Given the description of an element on the screen output the (x, y) to click on. 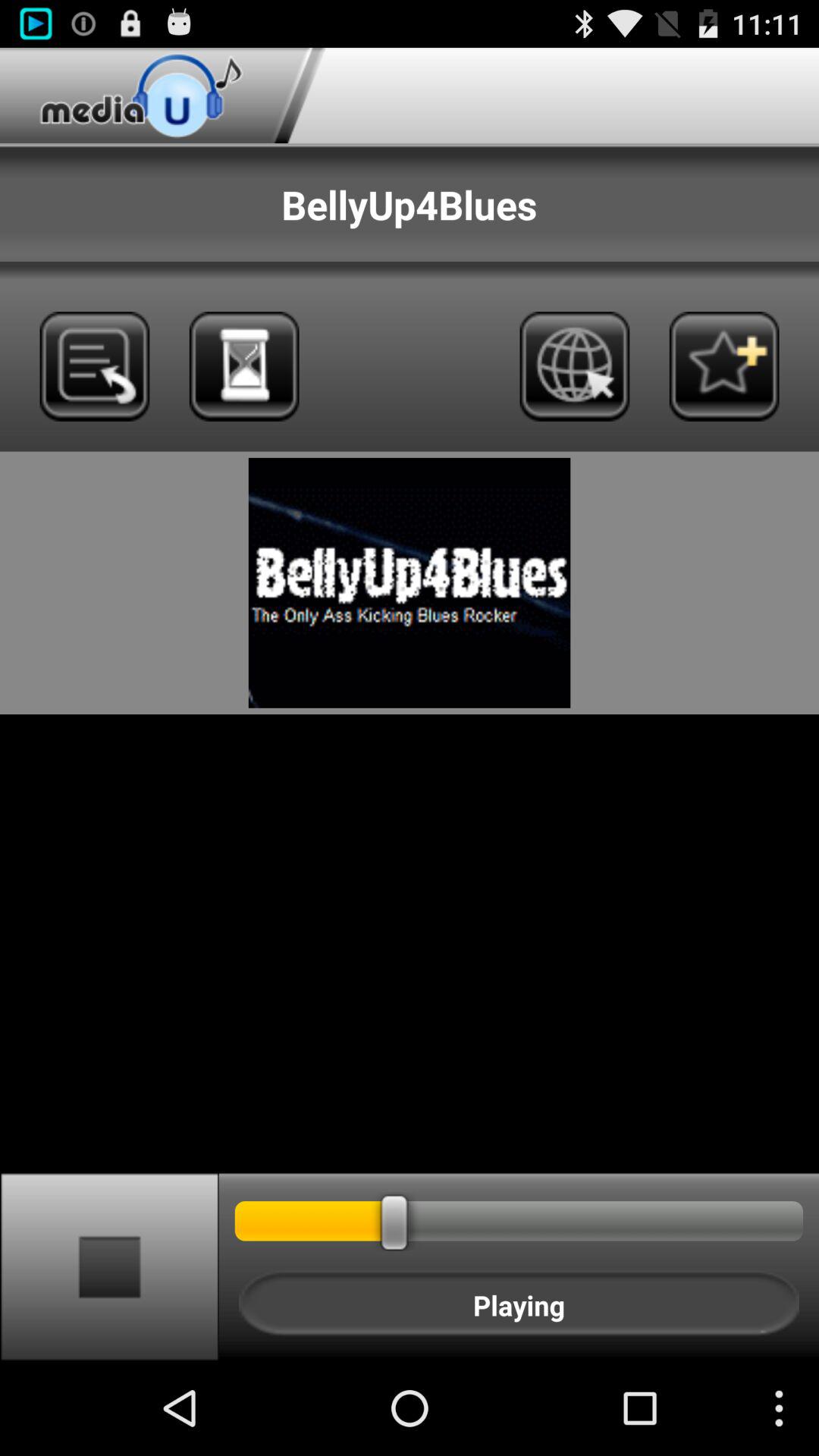
open media (574, 366)
